Given the description of an element on the screen output the (x, y) to click on. 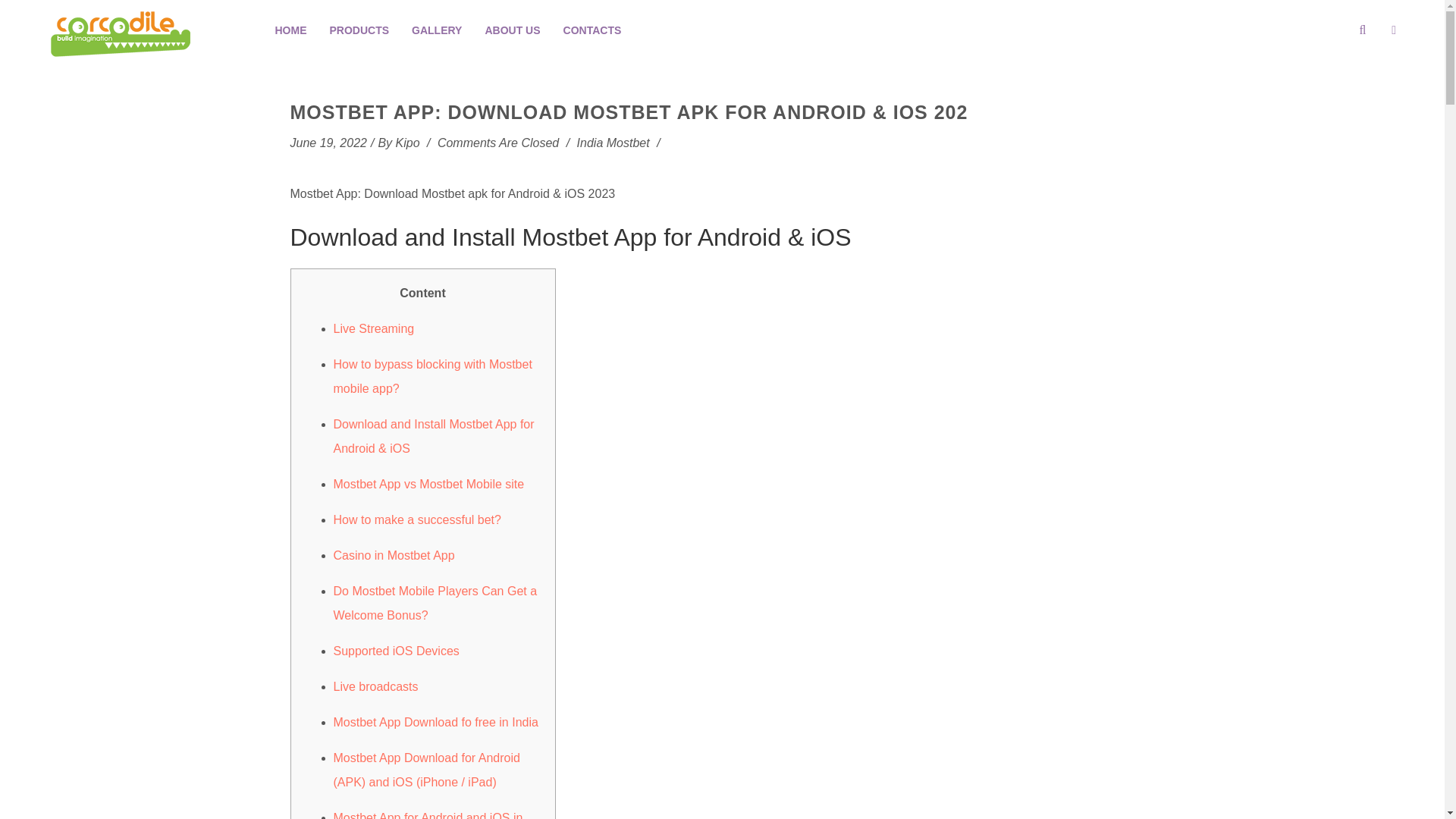
GALLERY (436, 30)
Do Mostbet Mobile Players Can Get a Welcome Bonus? (435, 602)
Kipo (408, 142)
June 19, 2022 (327, 142)
Posts by kipo (408, 142)
View your shopping cart (1421, 22)
HOME (290, 30)
How to bypass blocking with Mostbet mobile app? (432, 375)
India Mostbet (612, 142)
Mostbet App vs Mostbet Mobile site (428, 483)
